Given the description of an element on the screen output the (x, y) to click on. 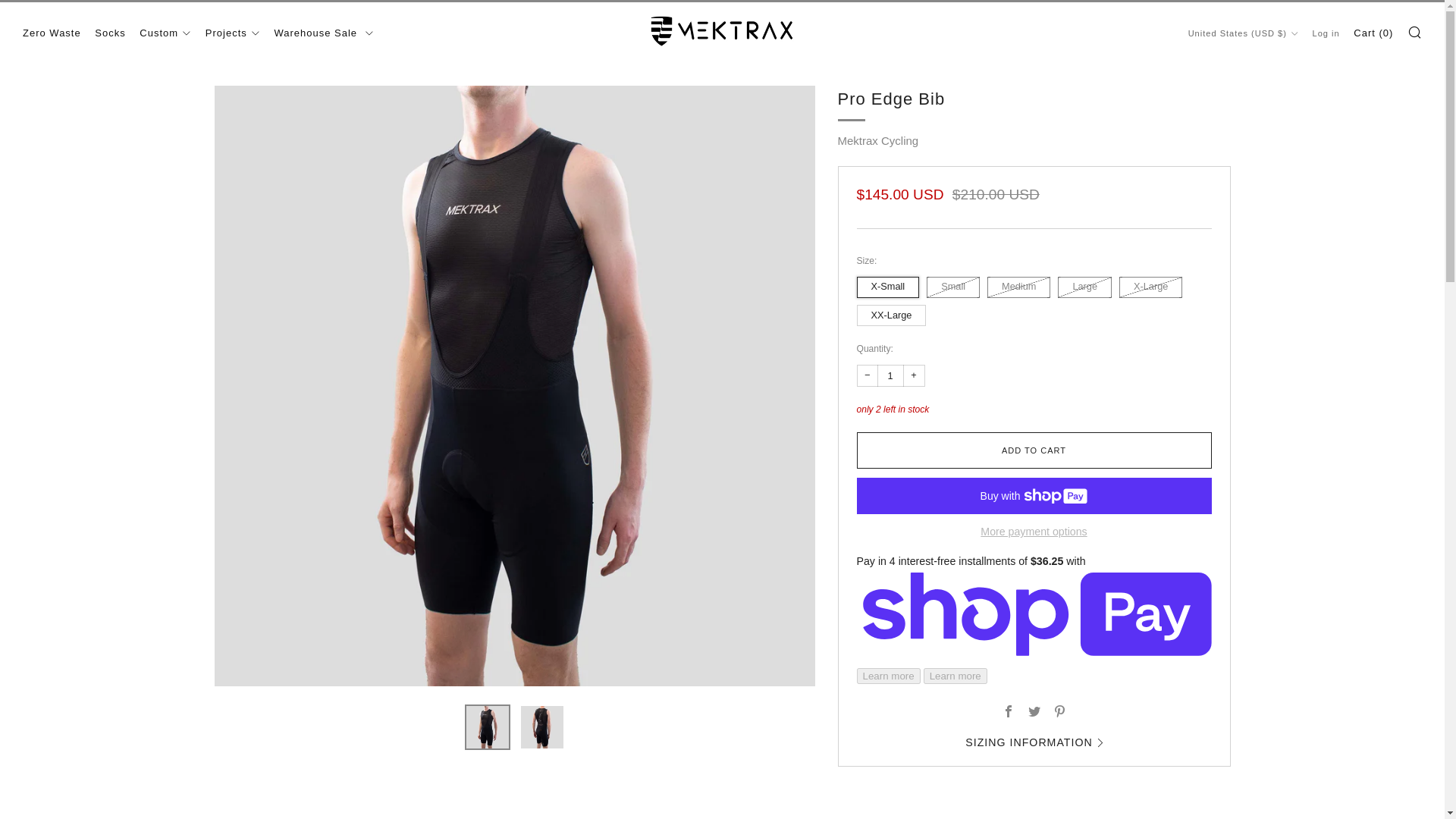
X-Small (890, 284)
X-Large (1152, 284)
Medium (1020, 284)
XX-Large (894, 311)
Large (1087, 284)
Small (955, 284)
